Given the description of an element on the screen output the (x, y) to click on. 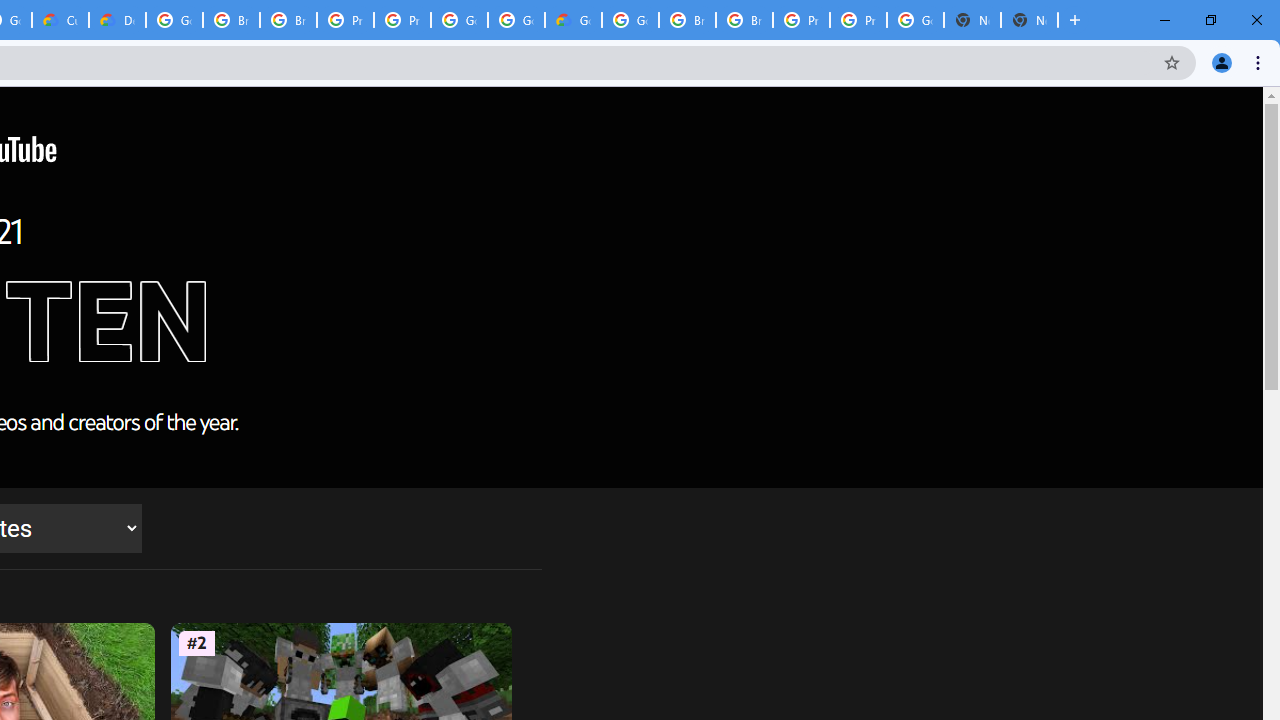
Google Cloud Platform (915, 20)
Google Cloud Platform (516, 20)
Google Cloud Platform (630, 20)
Browse Chrome as a guest - Computer - Google Chrome Help (231, 20)
New Tab (1029, 20)
